Given the description of an element on the screen output the (x, y) to click on. 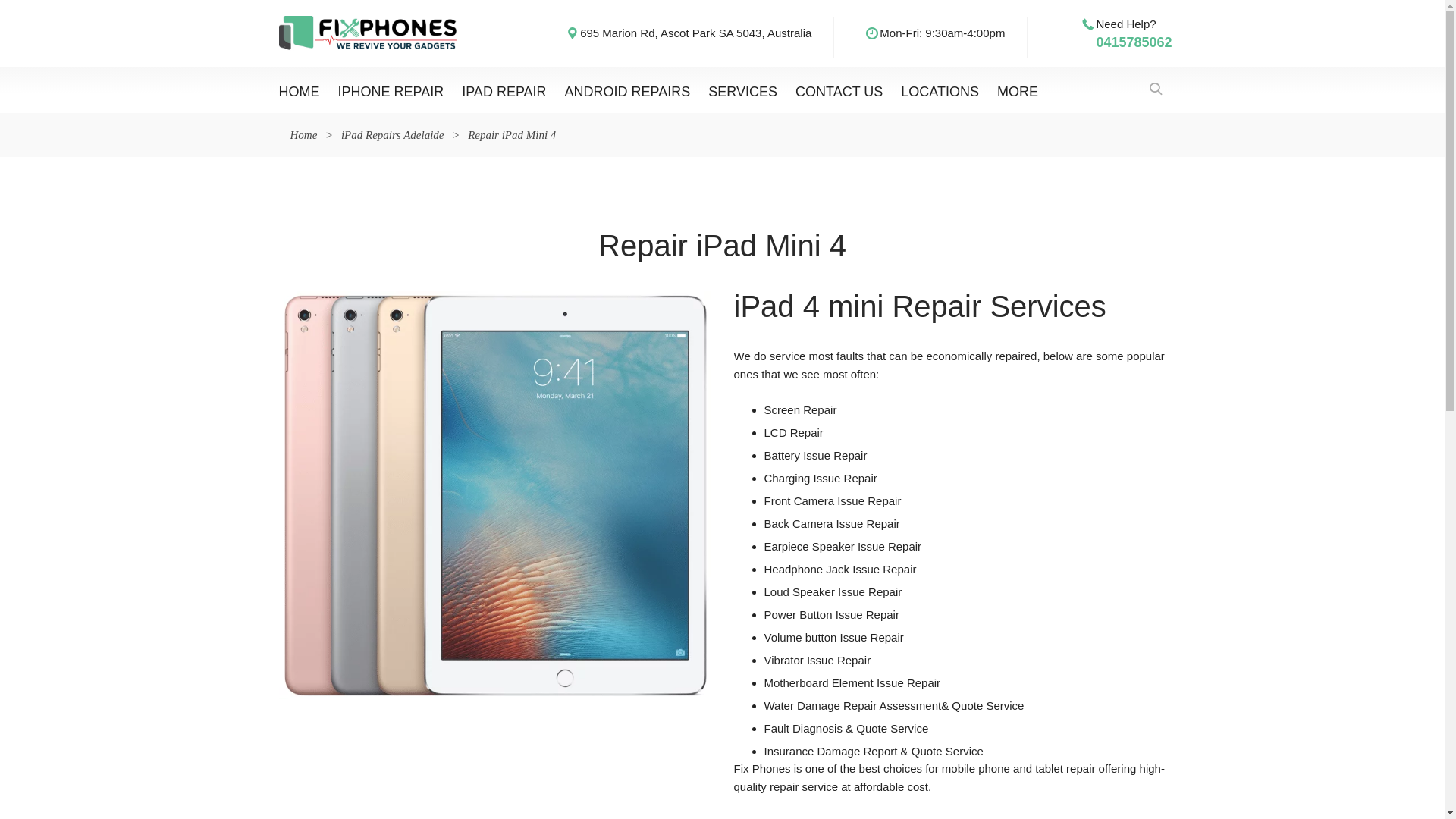
HOME Element type: text (299, 89)
LOCATIONS Element type: text (939, 89)
IPAD REPAIR Element type: text (503, 89)
CONTACT US Element type: text (838, 89)
1107e8b15854ab3a294904 Element type: hover (495, 495)
ANDROID REPAIRS Element type: text (627, 89)
Home Element type: text (302, 134)
SERVICES Element type: text (742, 89)
iPad Repairs Adelaide Element type: text (392, 134)
MORE Element type: text (1017, 89)
695 Marion Rd, Ascot Park SA 5043, Australia Element type: text (695, 32)
IPHONE REPAIR Element type: text (391, 89)
